Given the description of an element on the screen output the (x, y) to click on. 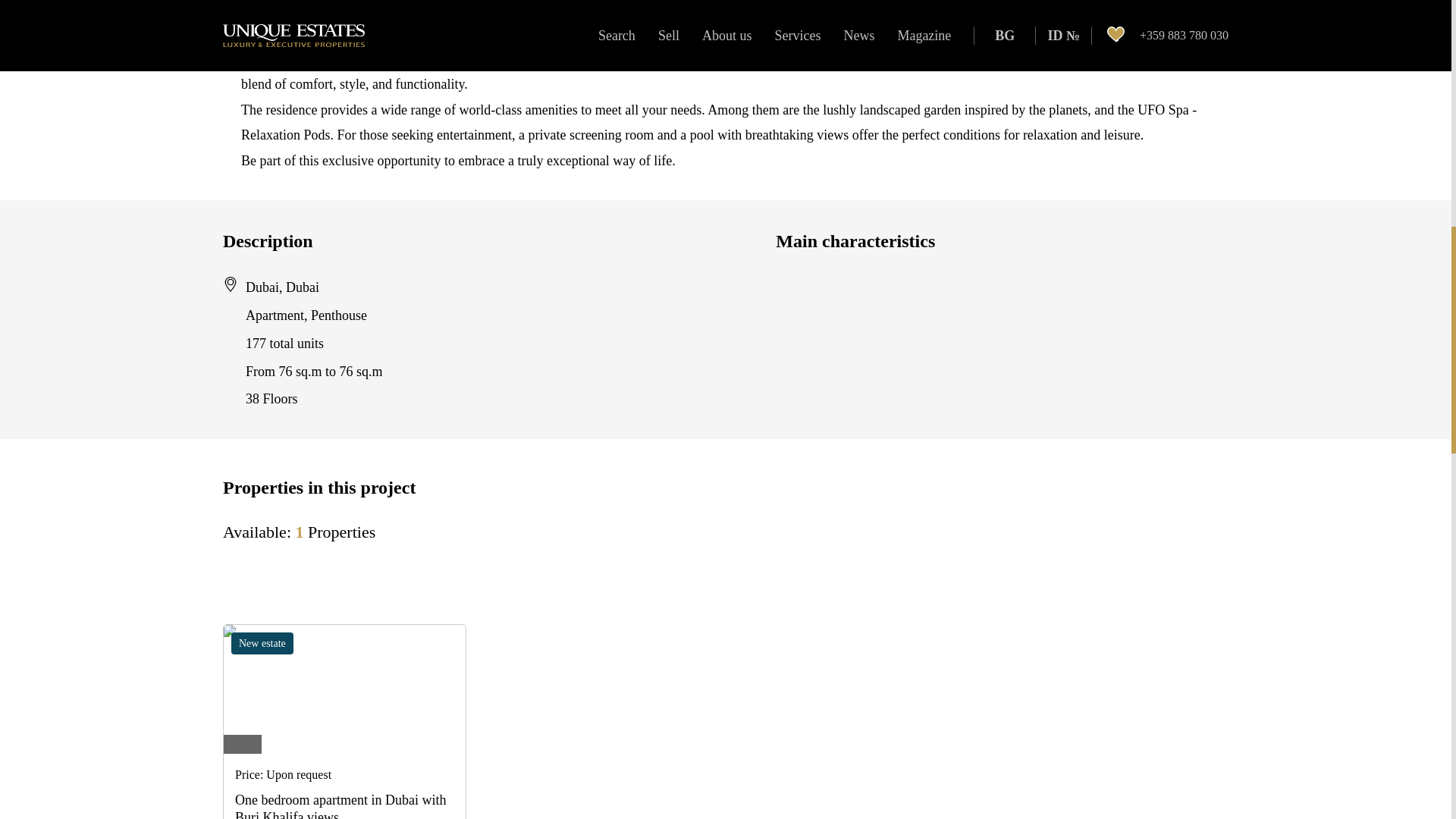
Read more (339, 805)
Add to favourites (443, 647)
